Given the description of an element on the screen output the (x, y) to click on. 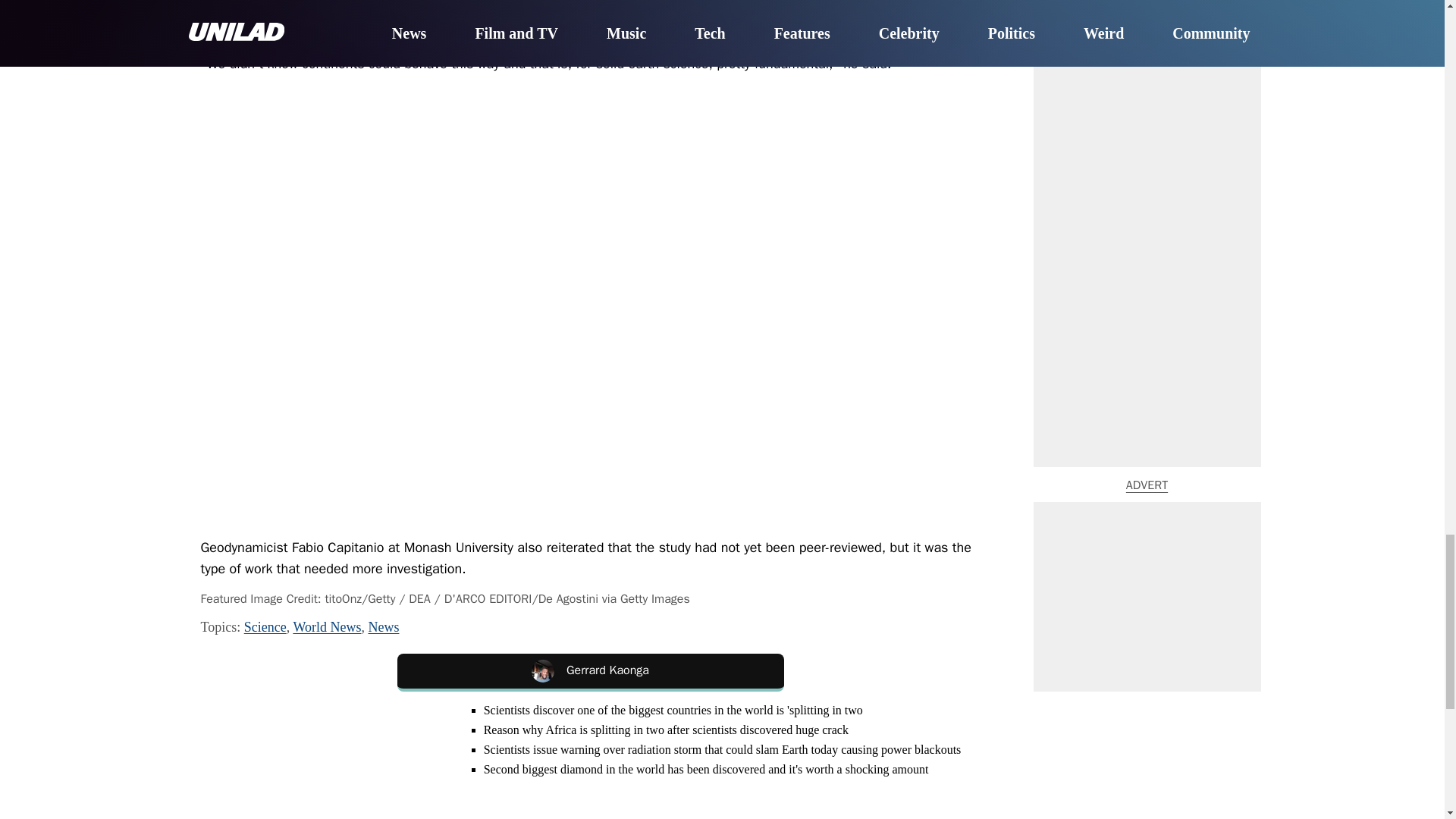
News (383, 626)
Science (265, 626)
World News (326, 626)
